Given the description of an element on the screen output the (x, y) to click on. 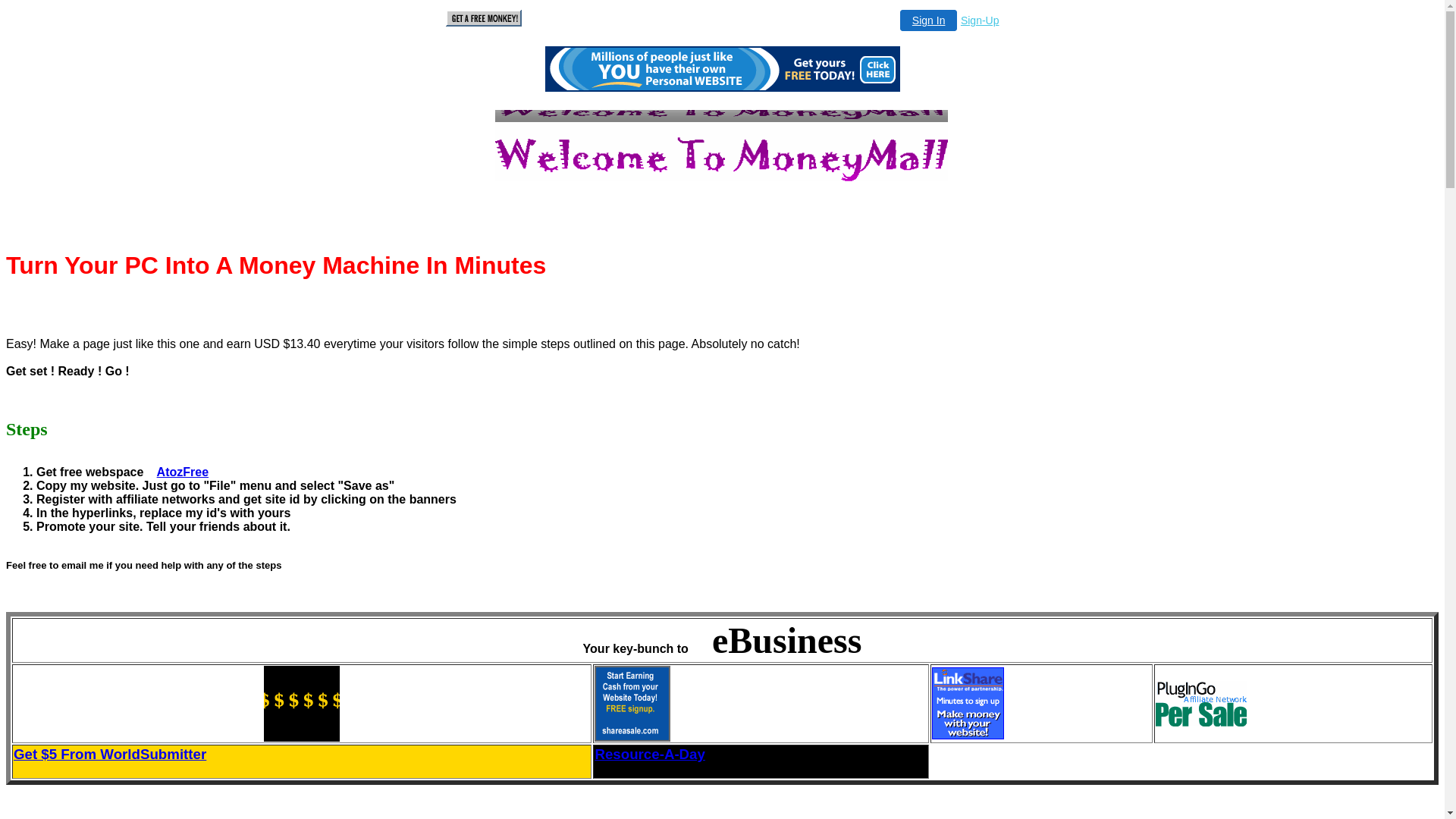
AtozFree Element type: text (182, 471)
Get $5 From WorldSubmitter Element type: text (301, 754)
Sign-Up Element type: text (979, 20)
Sign In Element type: text (928, 20)
Resource-A-Day Element type: text (760, 754)
